Given the description of an element on the screen output the (x, y) to click on. 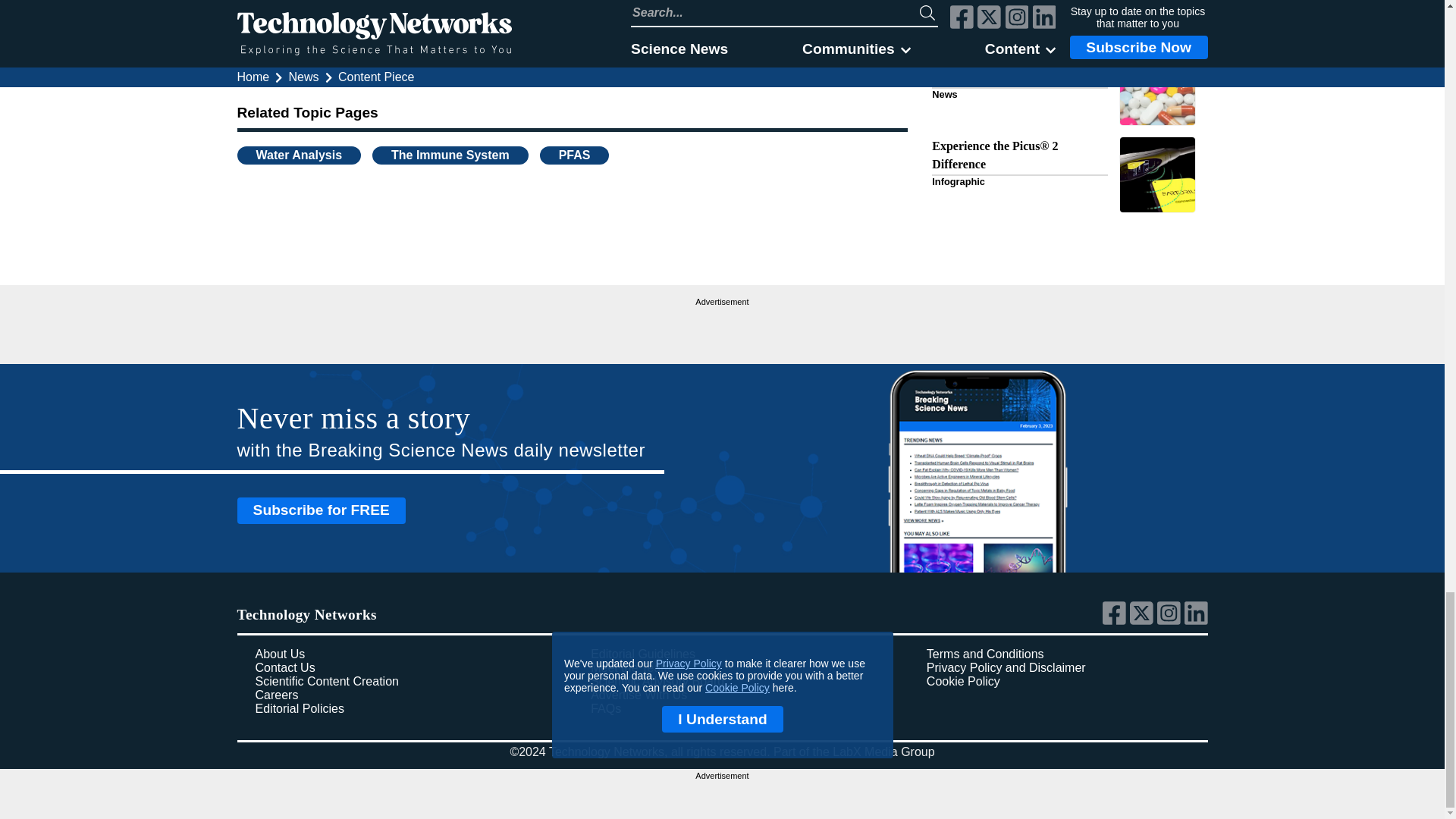
Link to Technology Networks' facebook page (1115, 621)
Link to Technology Networks' instagram page (1171, 621)
Link to Technology Networks' twitter page (1143, 621)
3rd party ad content (721, 329)
Link to Technology Networks' linkedin page (1196, 621)
